Given the description of an element on the screen output the (x, y) to click on. 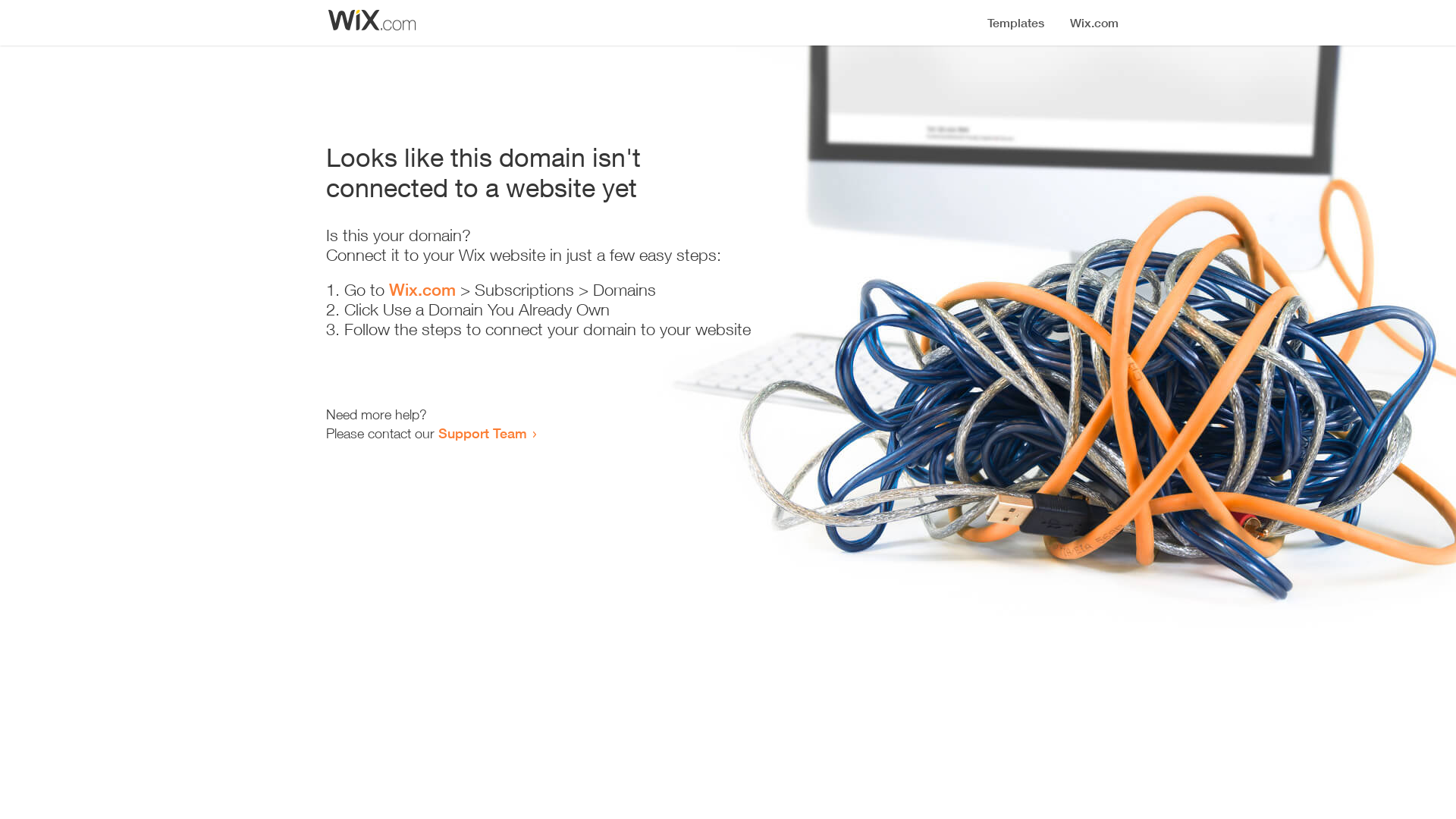
Support Team Element type: text (482, 432)
Wix.com Element type: text (422, 289)
